Given the description of an element on the screen output the (x, y) to click on. 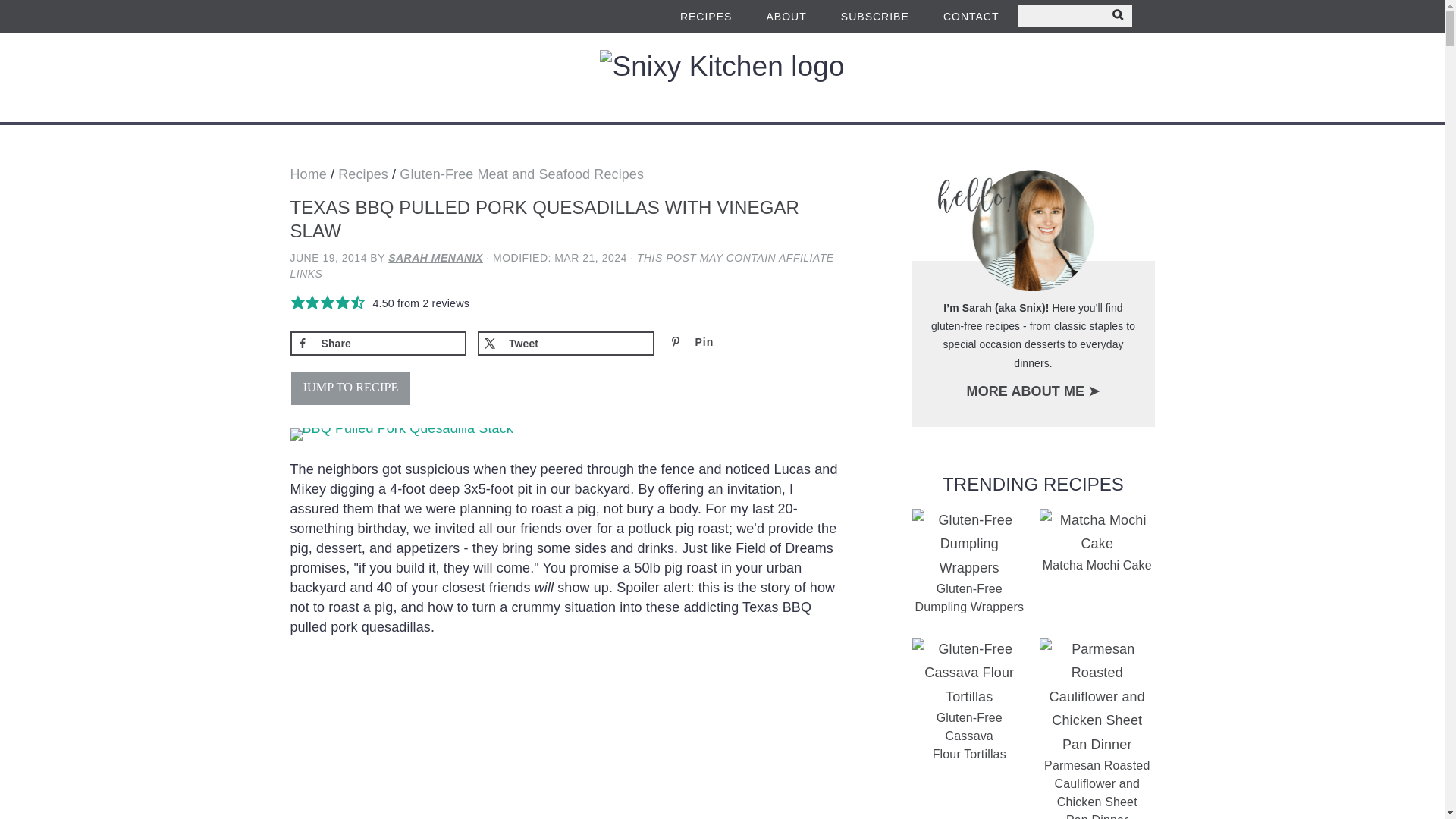
SARAH MENANIX (435, 257)
Home (307, 174)
Share on Facebook (377, 343)
Save to Pinterest (754, 343)
Gluten-Free Meat and Seafood Recipes (520, 174)
RECIPES (705, 16)
Share on X (565, 343)
Recipes (362, 174)
Snixy Kitchen (721, 66)
ABOUT (786, 16)
SUBSCRIBE (874, 16)
Snixy Kitchen (722, 85)
